Given the description of an element on the screen output the (x, y) to click on. 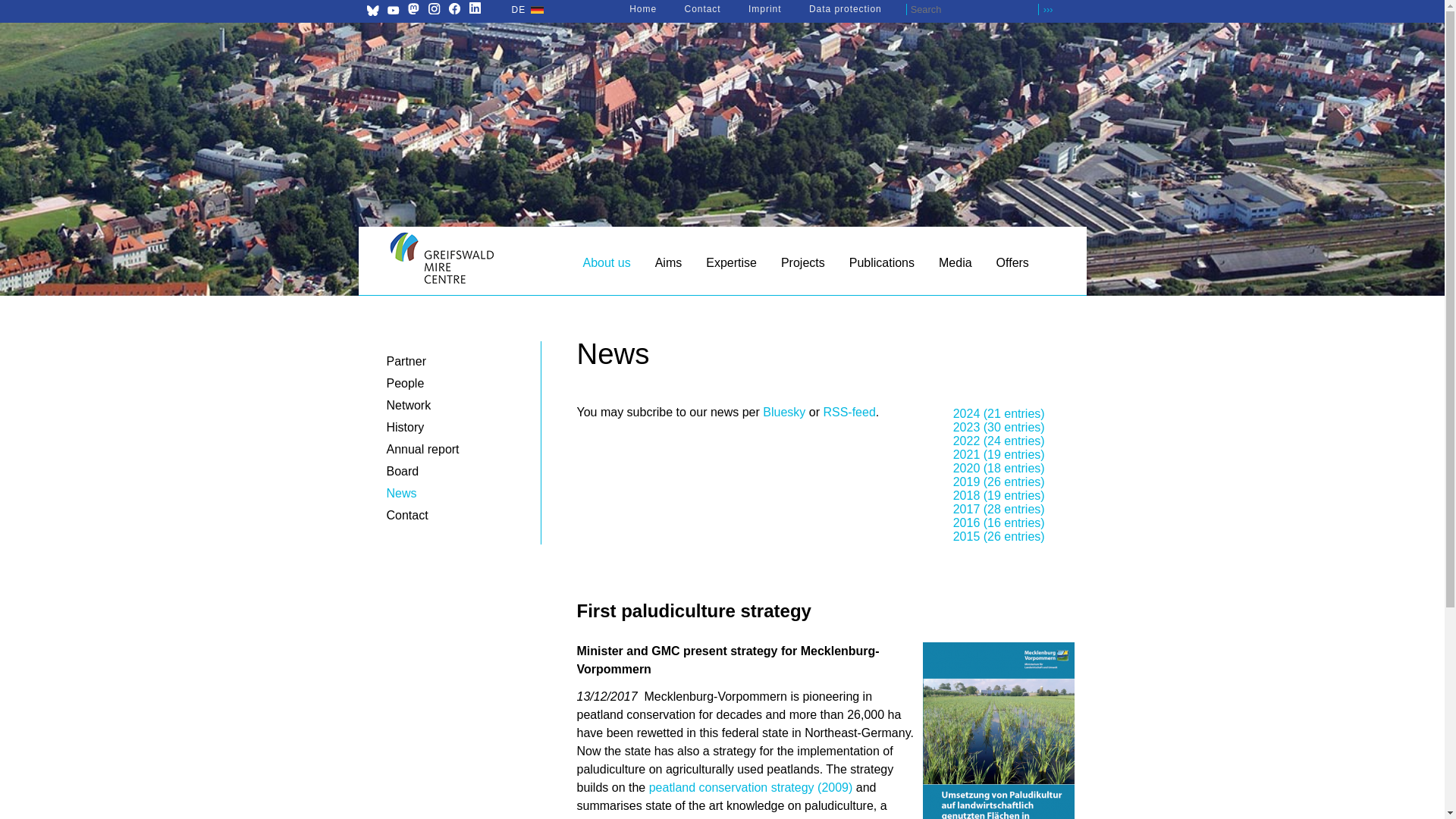
Contact (702, 9)
GMC on Bluesky (371, 10)
Expertise (731, 266)
Imprint (764, 9)
GMC on Mastodon (412, 7)
About us (606, 266)
Home (642, 9)
Imprint (764, 9)
GMC on Linked IN (474, 7)
About us (606, 266)
